Given the description of an element on the screen output the (x, y) to click on. 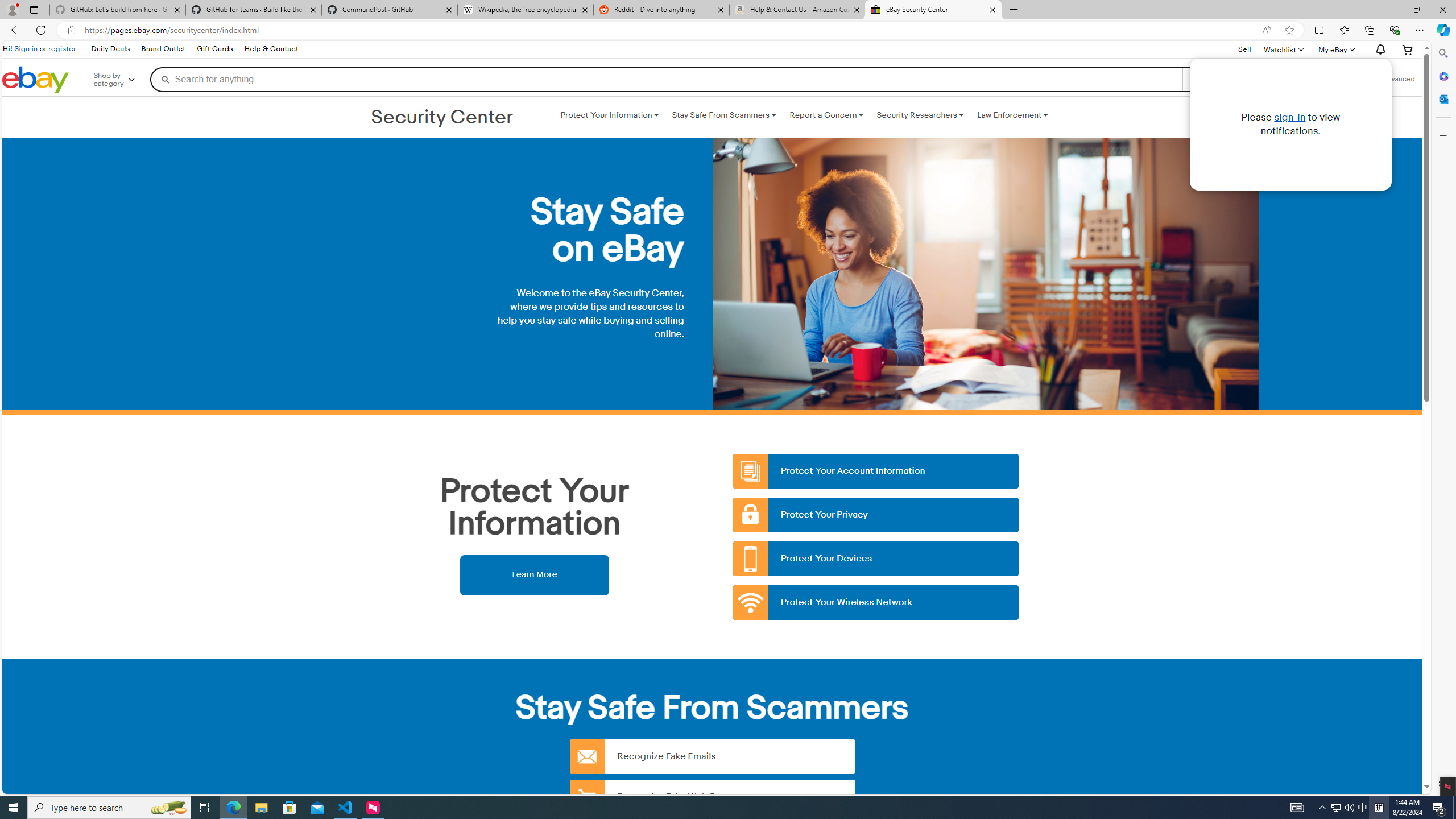
Gift Cards (214, 49)
Learn More (534, 574)
Advanced Search (1398, 78)
Wikipedia, the free encyclopedia (525, 9)
Help & Contact (271, 49)
eBay Home (35, 79)
Protect Your Privacy (876, 514)
eBay Security Center (933, 9)
Expand Cart (1407, 49)
